Given the description of an element on the screen output the (x, y) to click on. 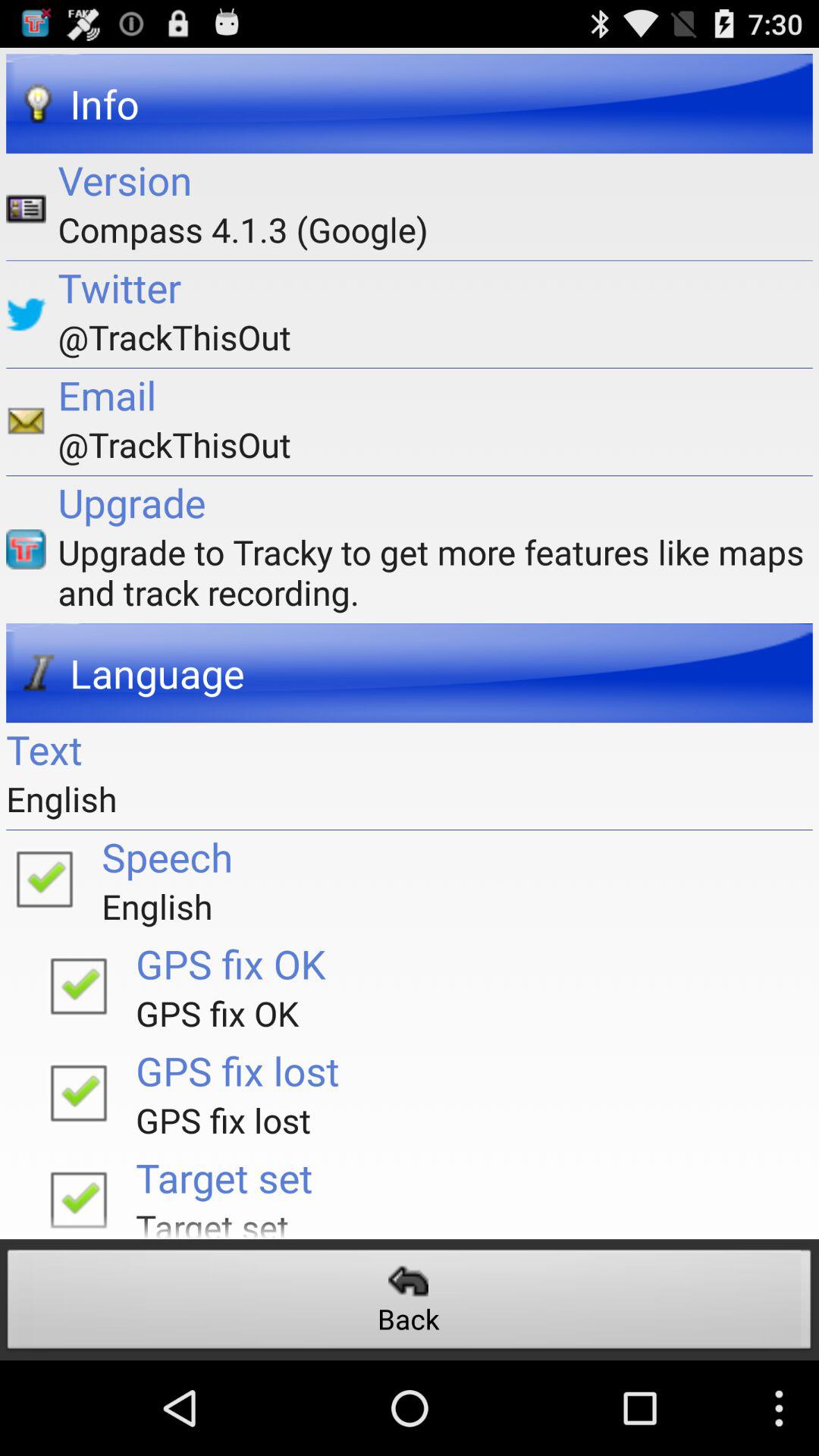
turn on option gps fix ok (78, 984)
